Given the description of an element on the screen output the (x, y) to click on. 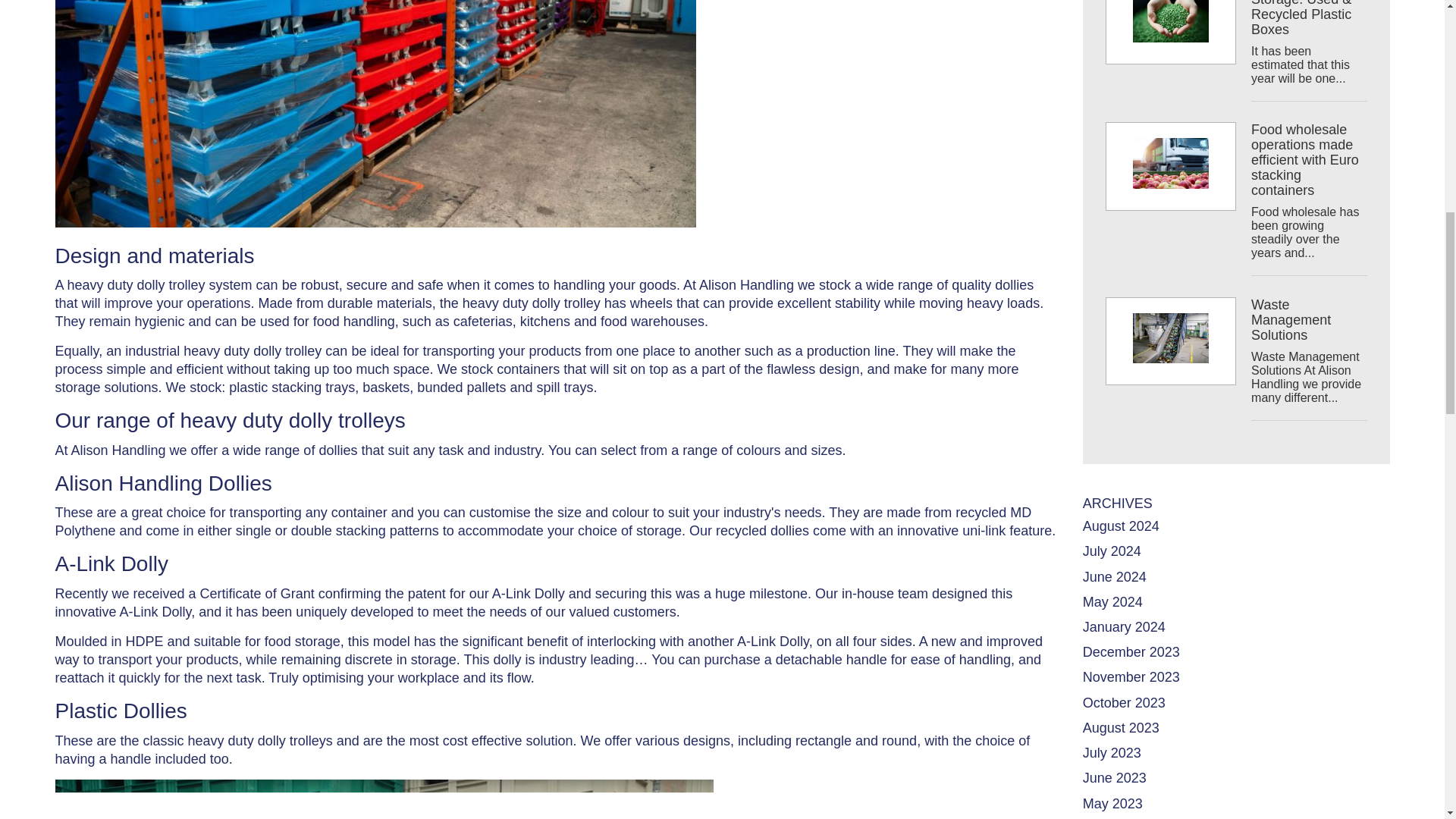
July 2024 (1112, 550)
August 2024 (1120, 525)
Waste Management Solutions (1170, 340)
Waste Management Solutions (1308, 350)
